Given the description of an element on the screen output the (x, y) to click on. 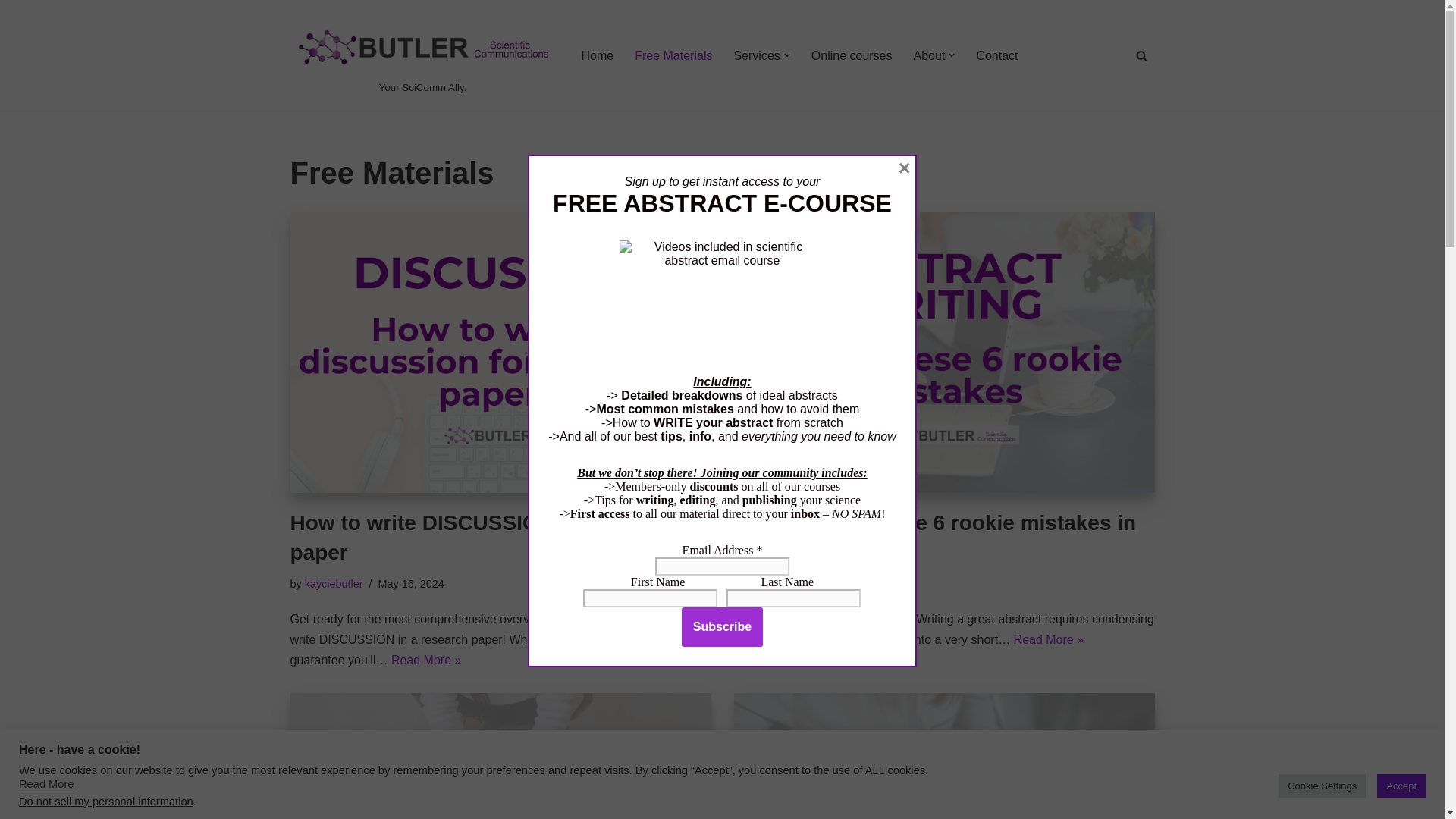
Online courses (851, 55)
How to write DISCUSSION in research paper (499, 352)
Your SciComm Ally. (421, 55)
Do you make these 6 rookie mistakes in your abstract? (943, 352)
Subscribe (721, 627)
Home (596, 55)
Do you make these 6 rookie mistakes in your abstract? (935, 537)
Contact (996, 55)
Posts by kayciebutler (777, 583)
kayciebutler (333, 583)
kayciebutler (777, 583)
How to write DISCUSSION in research paper (480, 537)
Services (755, 55)
Skip to content (11, 31)
